Given the description of an element on the screen output the (x, y) to click on. 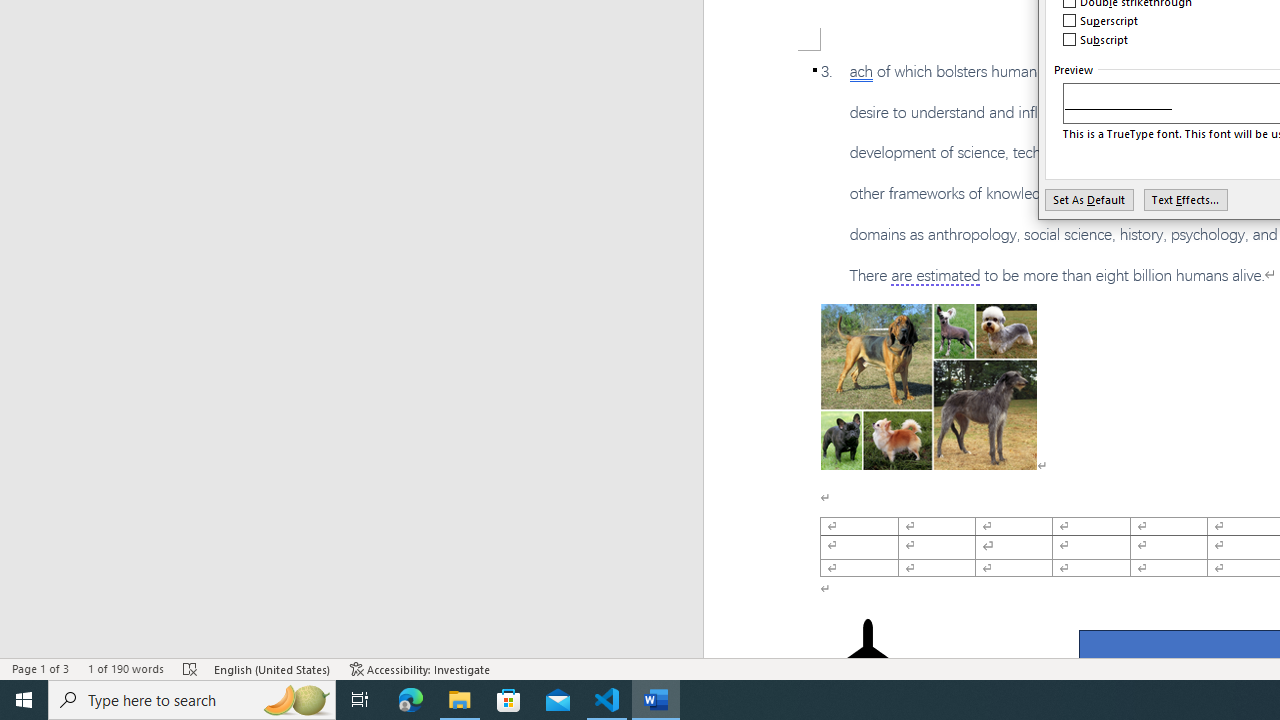
Word - 1 running window (656, 699)
Task View (359, 699)
Accessibility Checker Accessibility: Investigate (420, 668)
Microsoft Edge (411, 699)
Page Number Page 1 of 3 (39, 668)
Microsoft Store (509, 699)
